Given the description of an element on the screen output the (x, y) to click on. 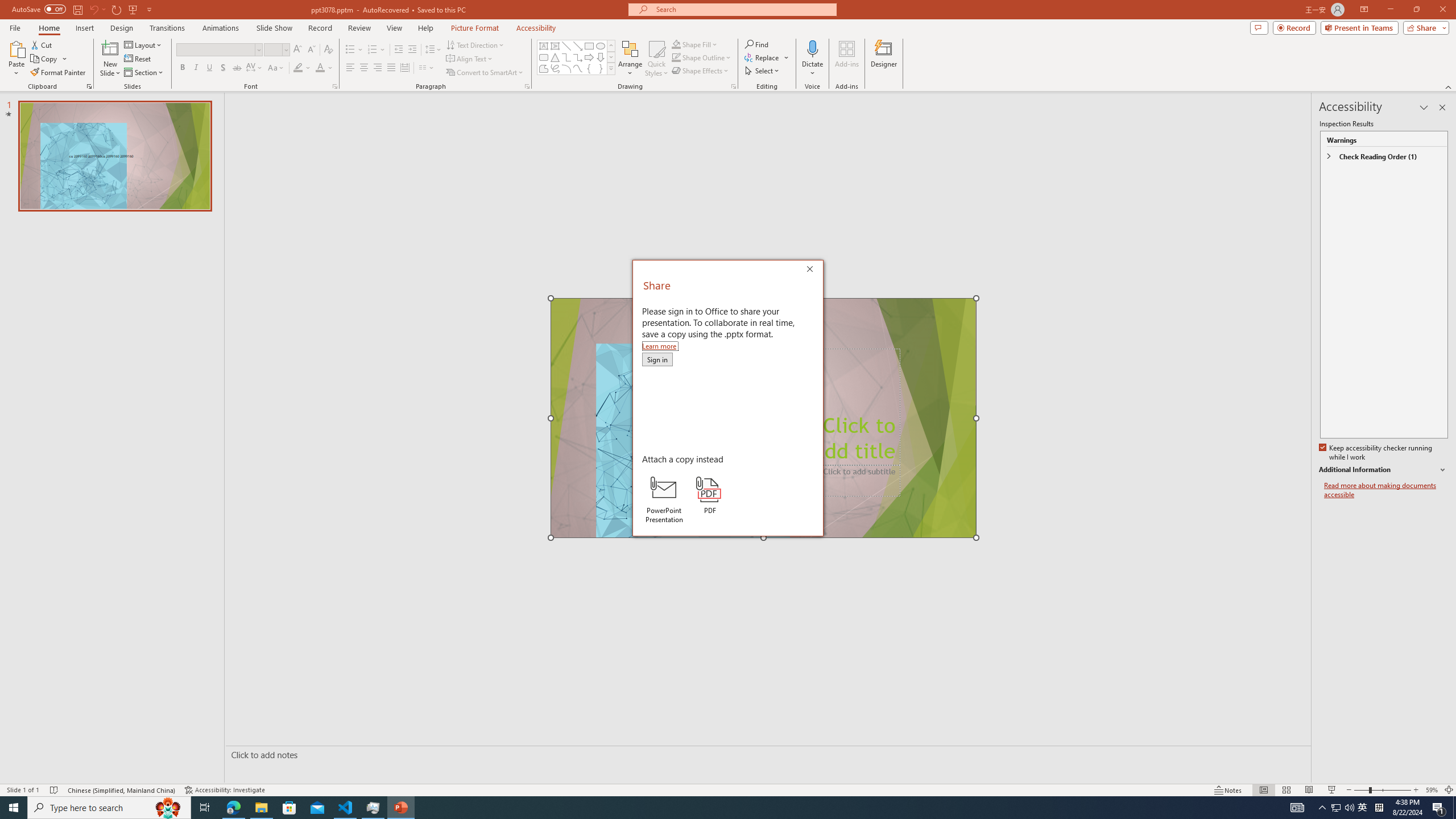
Format Object... (733, 85)
Microsoft Store (289, 807)
Cut (42, 44)
Increase Indent (412, 49)
Shape Fill (694, 44)
Shape Effects (700, 69)
Type here to search (108, 807)
Shape Fill Dark Green, Accent 2 (675, 44)
Read more about making documents accessible (1385, 489)
Sign in (657, 359)
